Given the description of an element on the screen output the (x, y) to click on. 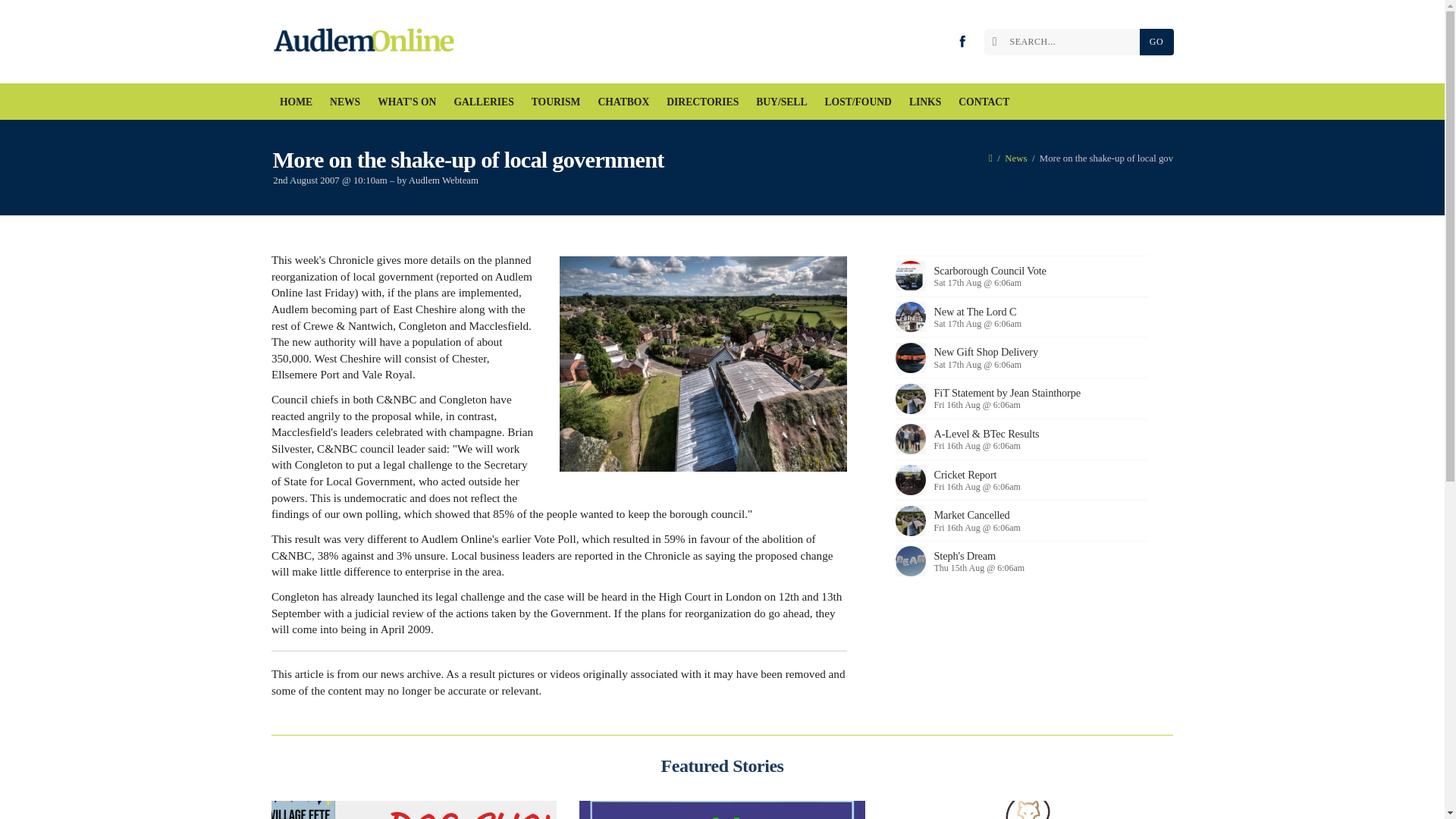
GALLERIES (483, 101)
Visit our Facebook Page (962, 40)
WHAT'S ON (407, 101)
DIRECTORIES (703, 101)
TOURISM (555, 101)
GO (1155, 41)
News (1015, 158)
AudlemOnline Home (366, 41)
SEARCH... (1065, 41)
